Given the description of an element on the screen output the (x, y) to click on. 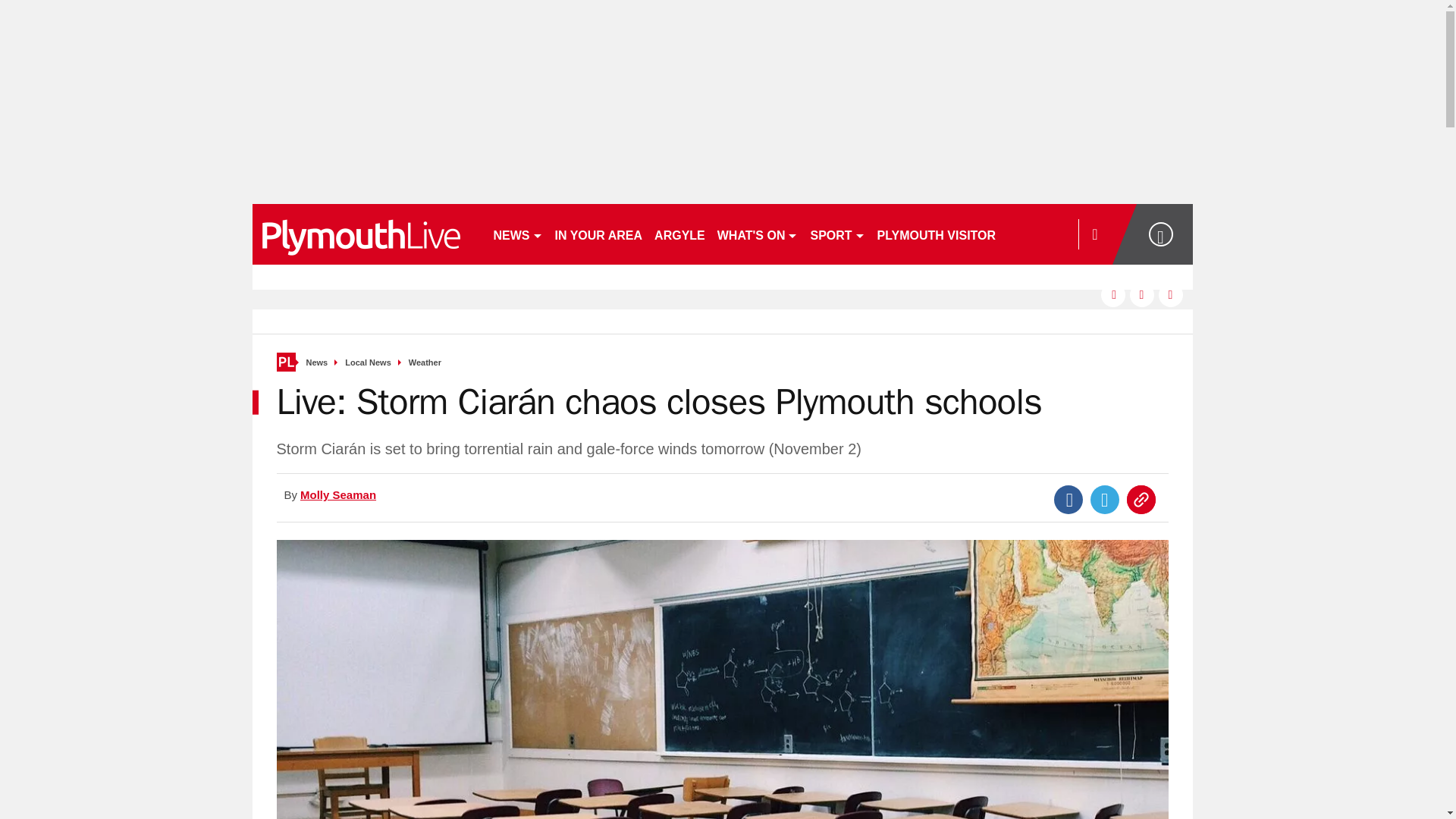
Facebook (1068, 499)
WHAT'S ON (758, 233)
ARGYLE (679, 233)
IN YOUR AREA (598, 233)
plymouthherald (365, 233)
PLYMOUTH VISITOR GUIDE (956, 233)
instagram (1170, 294)
twitter (1141, 294)
Twitter (1104, 499)
facebook (1112, 294)
